Given the description of an element on the screen output the (x, y) to click on. 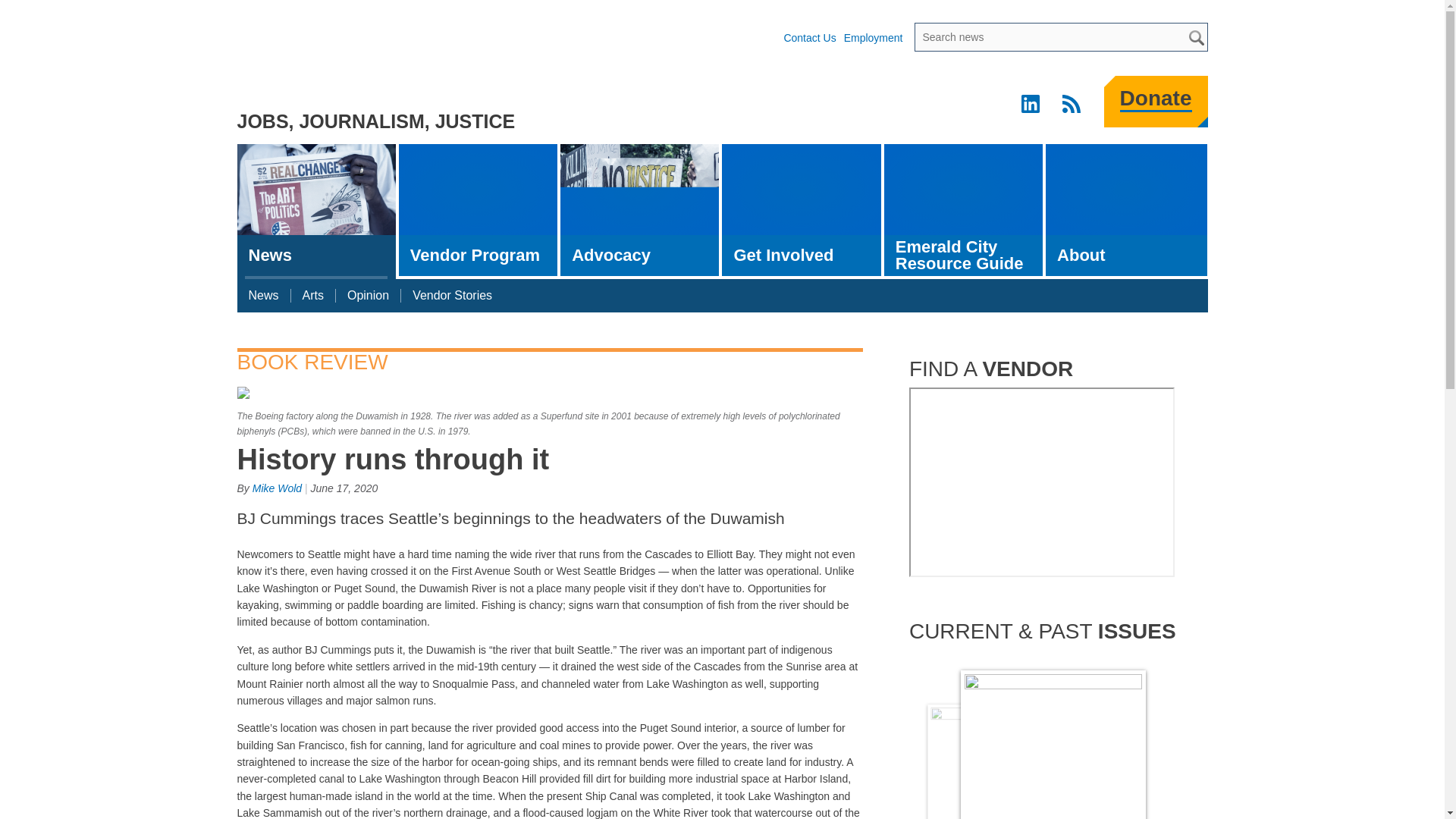
Get Involved (801, 210)
Advocacy (639, 210)
Contact Us (809, 37)
YouTube (991, 105)
LinkedIn (1032, 105)
Opinion (368, 295)
Mike Wold (276, 488)
Twitter (909, 105)
News (314, 211)
Instagram (950, 105)
